Given the description of an element on the screen output the (x, y) to click on. 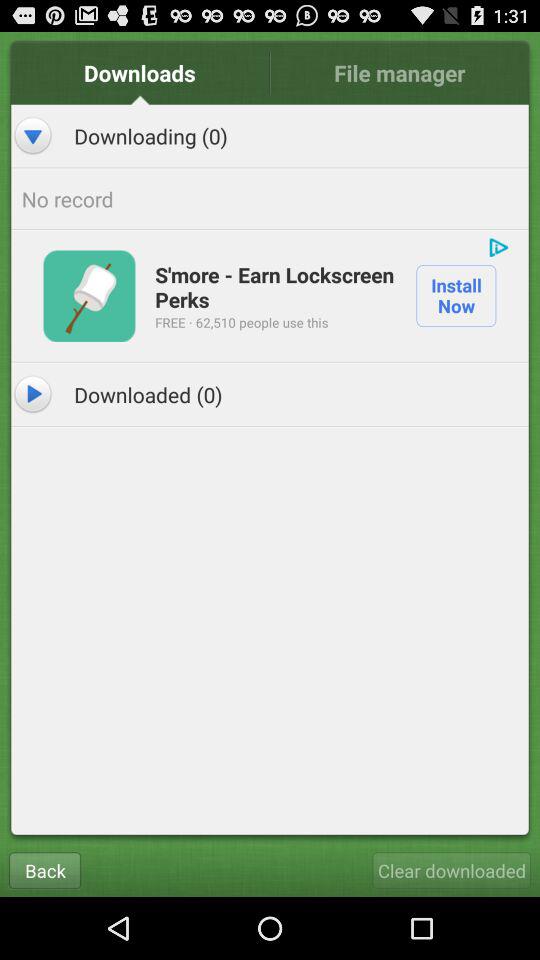
tap item below the downloaded (0) item (44, 870)
